Given the description of an element on the screen output the (x, y) to click on. 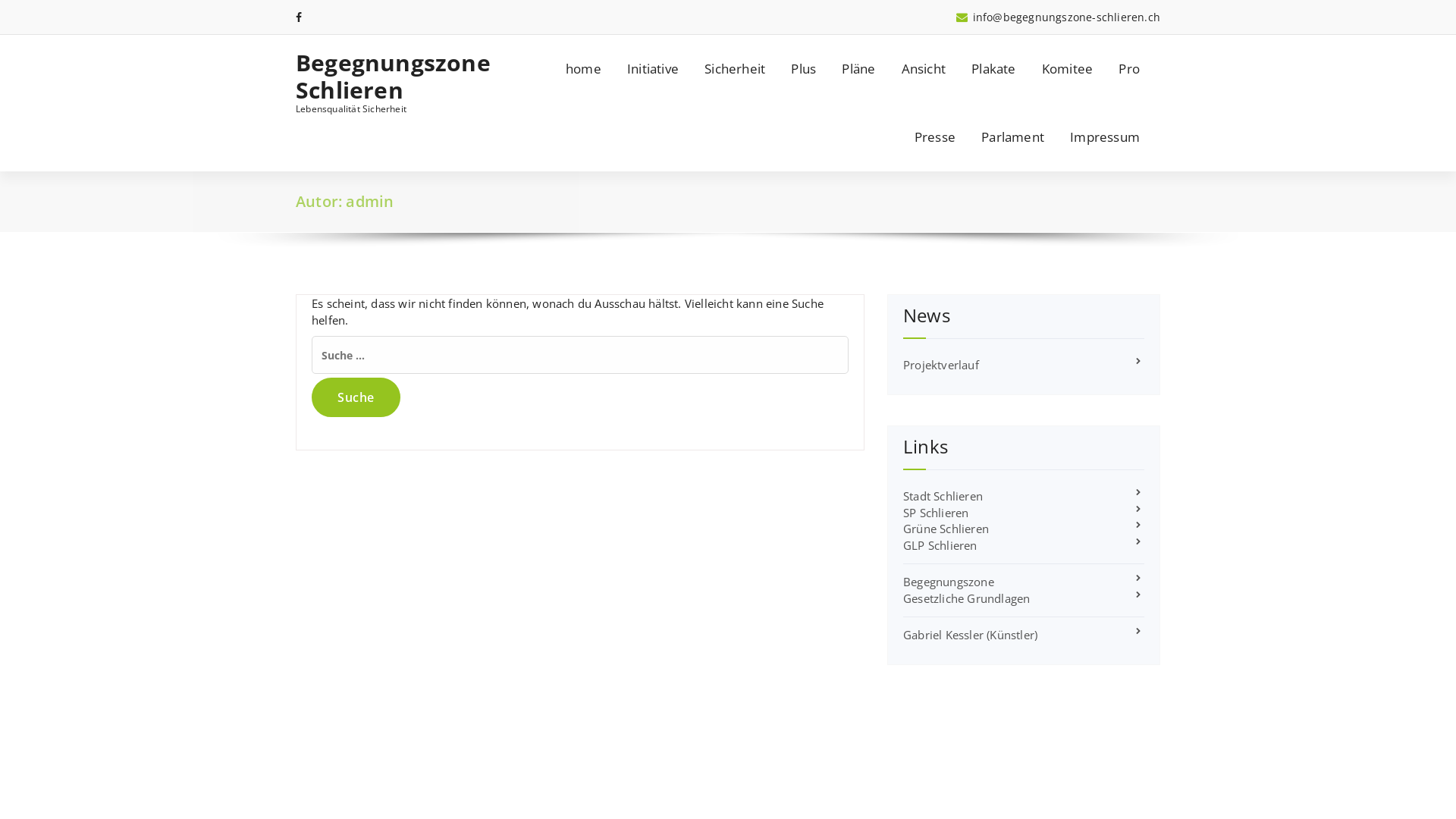
Impressum Element type: text (1104, 137)
Begegnungszone Schlieren Element type: text (395, 76)
Initiative Element type: text (652, 68)
Gesetzliche Grundlagen Element type: text (966, 597)
GLP Schlieren Element type: text (940, 544)
Komitee Element type: text (1066, 68)
Suche Element type: text (355, 397)
SP Schlieren Element type: text (935, 512)
Presse Element type: text (934, 137)
Pro Element type: text (1128, 68)
Sicherheit Element type: text (734, 68)
home Element type: text (583, 68)
Begegnungszone Element type: text (948, 581)
Ansicht Element type: text (923, 68)
Plakate Element type: text (993, 68)
Stadt Schlieren Element type: text (942, 495)
Parlament Element type: text (1012, 137)
info@begegnungszone-schlieren.ch Element type: text (1058, 17)
Projektverlauf Element type: text (941, 364)
Plus Element type: text (803, 68)
